Given the description of an element on the screen output the (x, y) to click on. 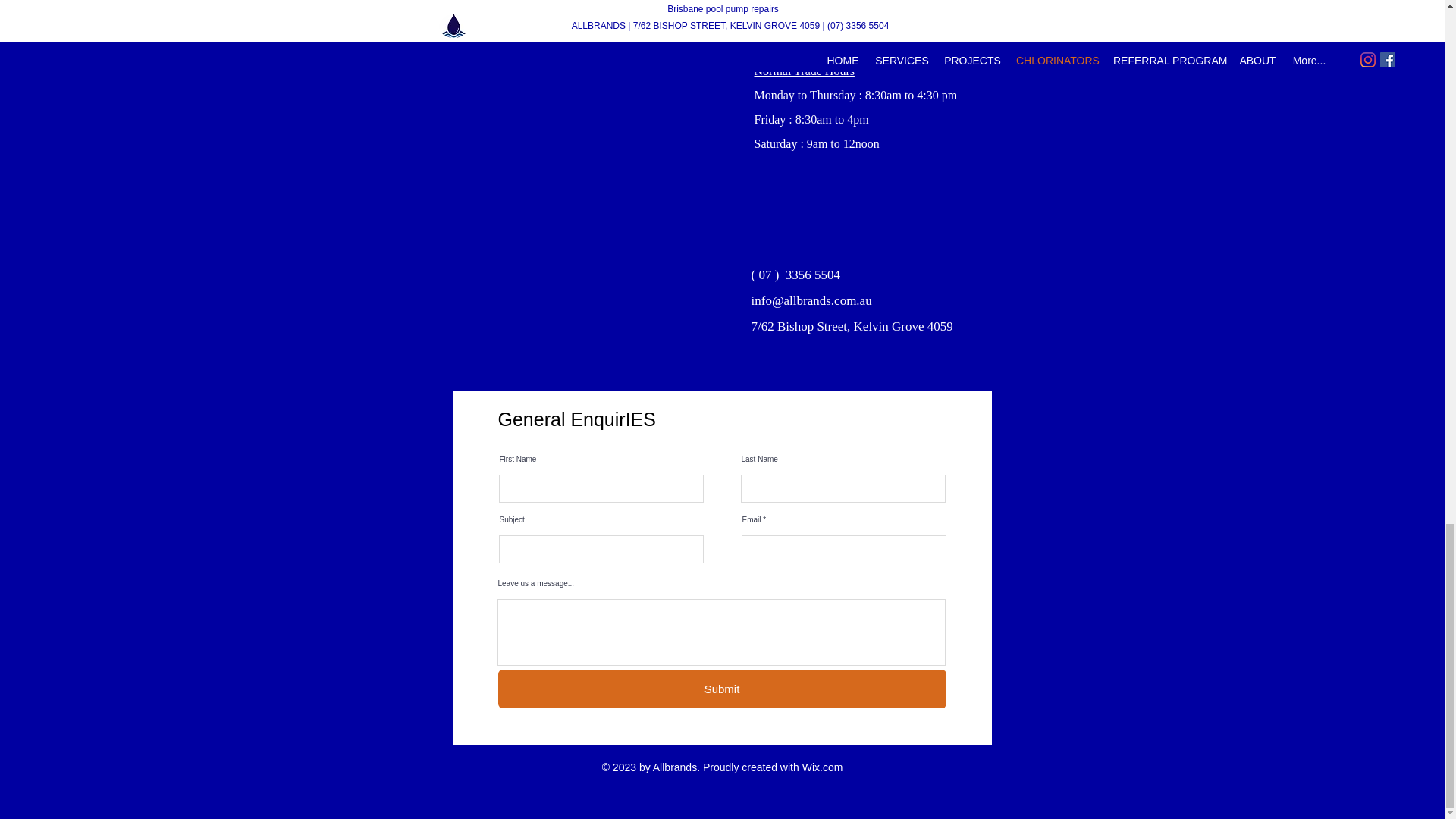
Submit (720, 688)
Wix.com (822, 767)
Google Maps (588, 158)
